Given the description of an element on the screen output the (x, y) to click on. 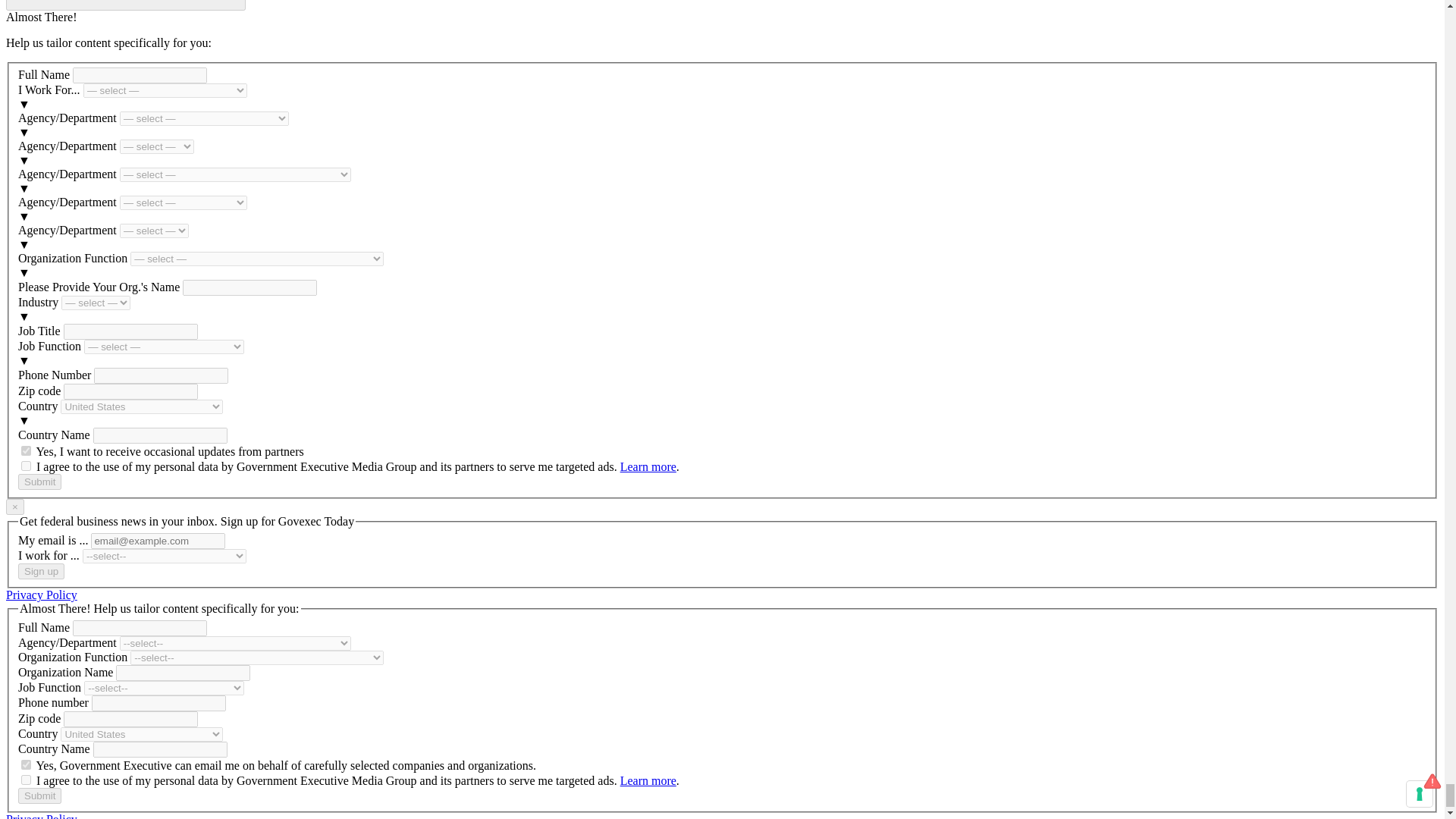
on (25, 779)
Submit (39, 481)
on (25, 465)
on (25, 450)
on (25, 764)
